Given the description of an element on the screen output the (x, y) to click on. 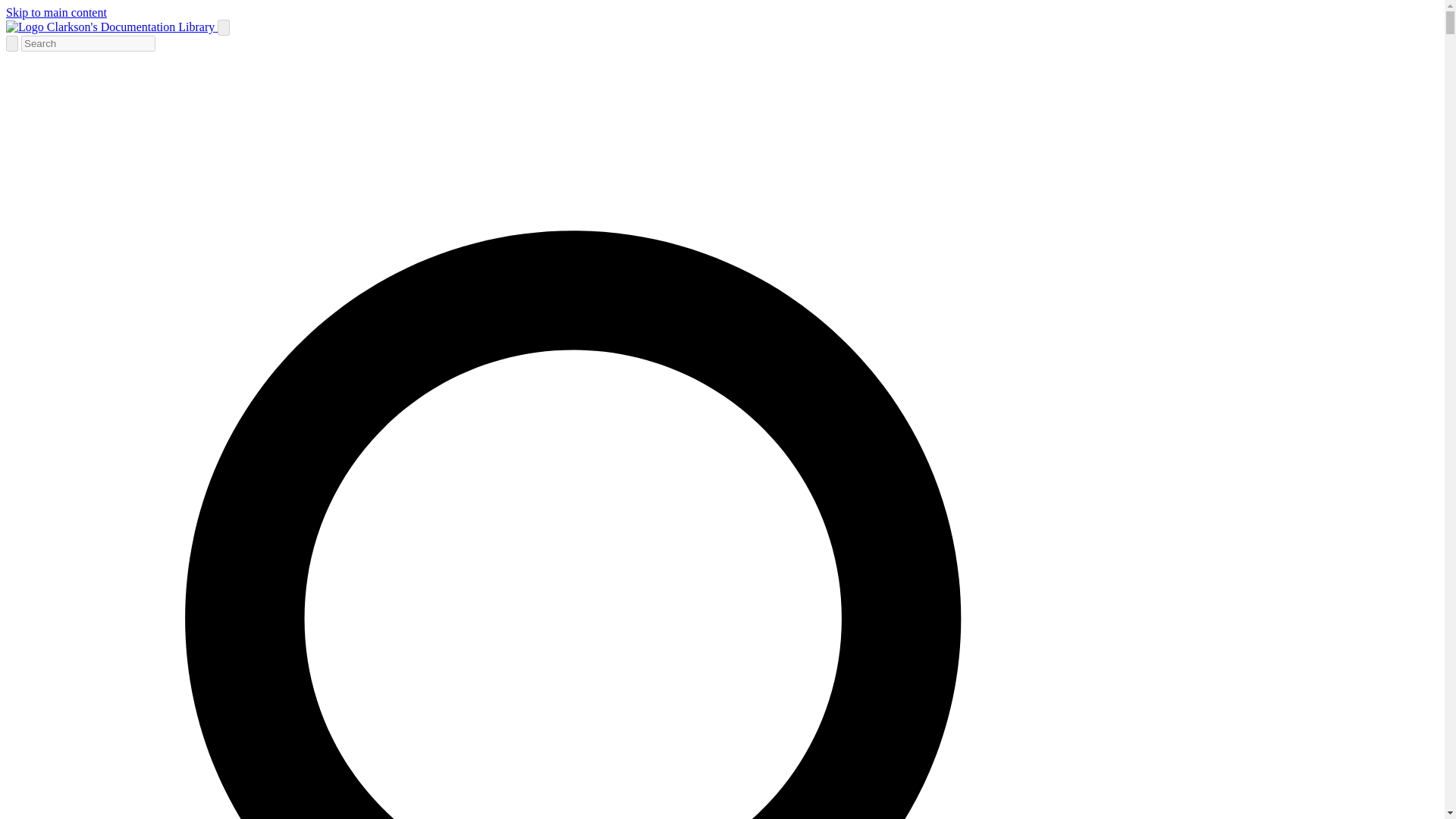
Skip to main content (55, 11)
Clarkson's Documentation Library (110, 26)
